Given the description of an element on the screen output the (x, y) to click on. 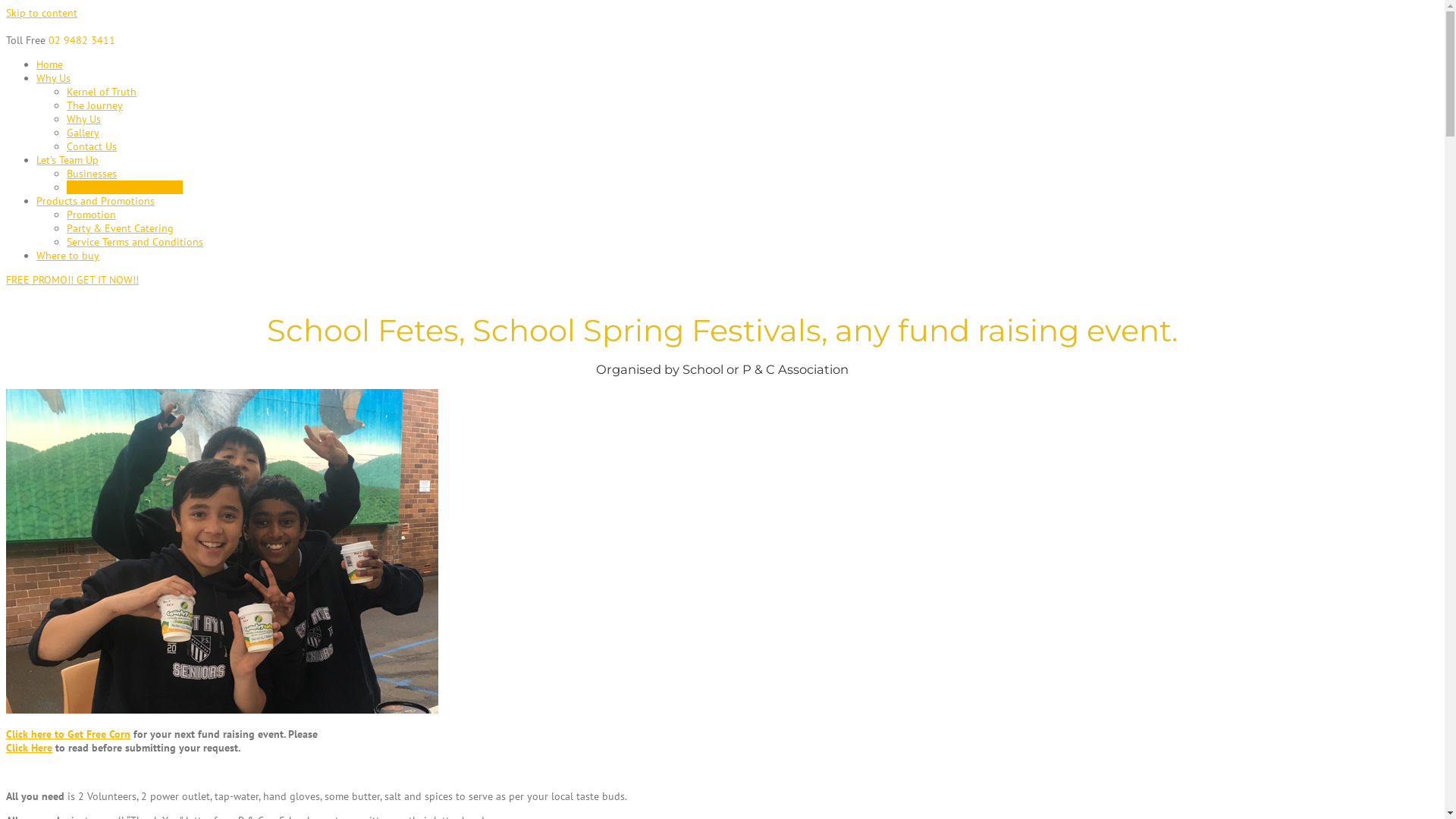
Products and Promotions Element type: text (95, 200)
Party & Event Catering Element type: text (119, 228)
Contact Us Element type: text (91, 146)
Click here to Get Free Corn Element type: text (68, 733)
Communities & Charities Element type: text (124, 187)
Promotion Element type: text (91, 214)
Service Terms and Conditions Element type: text (134, 241)
Kernel of Truth Element type: text (101, 91)
The Journey Element type: text (94, 105)
Home Element type: text (49, 64)
Businesses Element type: text (91, 173)
Gallery Element type: text (82, 132)
Skip to content Element type: text (41, 12)
Click Here Element type: text (29, 747)
Where to buy Element type: text (67, 255)
Why Us Element type: text (53, 77)
Why Us Element type: text (83, 118)
FREE PROMO!! GET IT NOW!! Element type: text (72, 279)
